Given the description of an element on the screen output the (x, y) to click on. 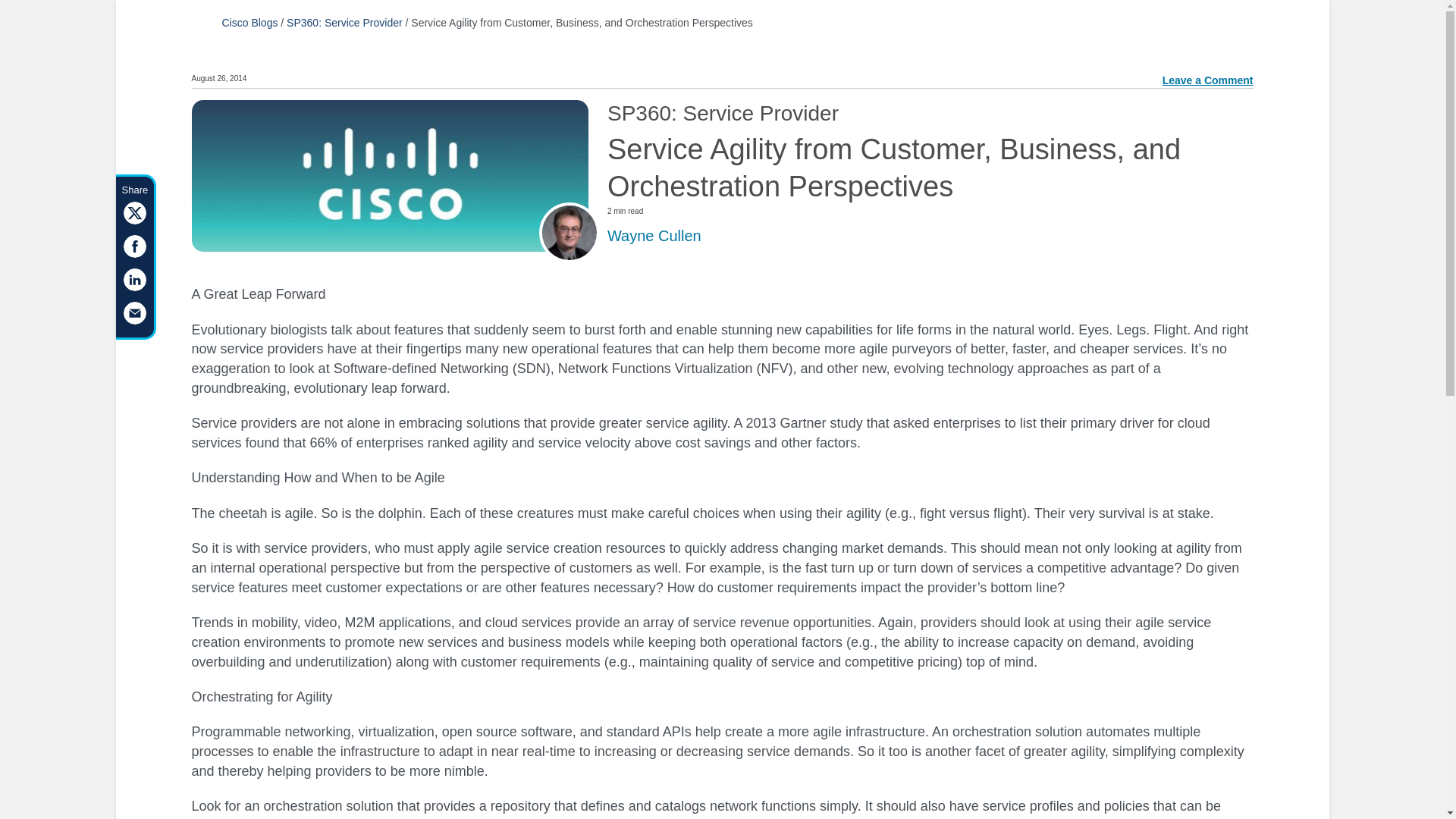
Wayne Cullen (654, 235)
SP360: Service Provider (344, 22)
Posts by Wayne Cullen (654, 235)
Cisco Blogs (249, 22)
